Given the description of an element on the screen output the (x, y) to click on. 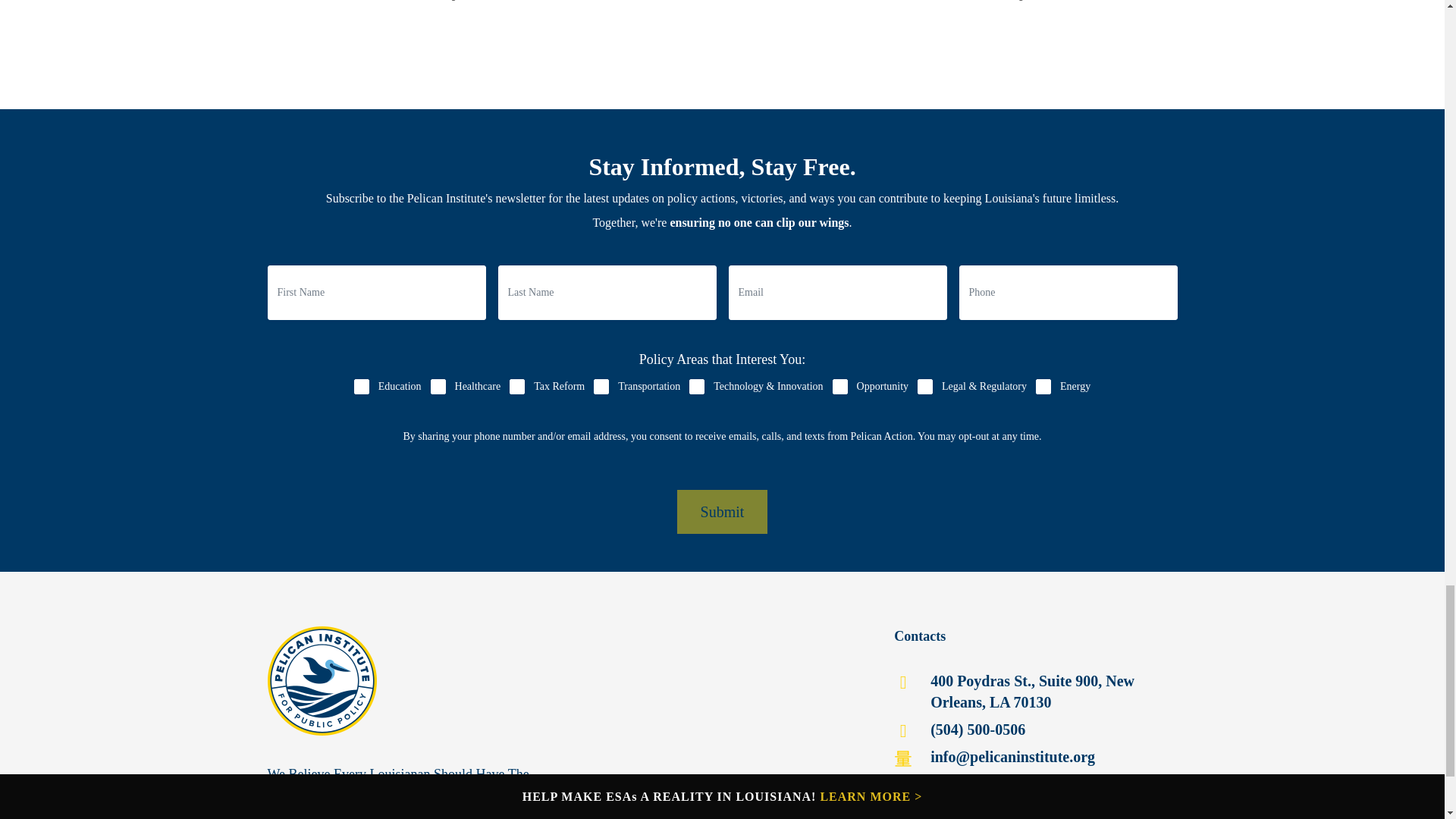
Transportation (601, 386)
Energy (1043, 386)
Submit (722, 511)
Opportunity (839, 386)
Healthcare (437, 386)
Education (361, 386)
Tax Reform (516, 386)
